Given the description of an element on the screen output the (x, y) to click on. 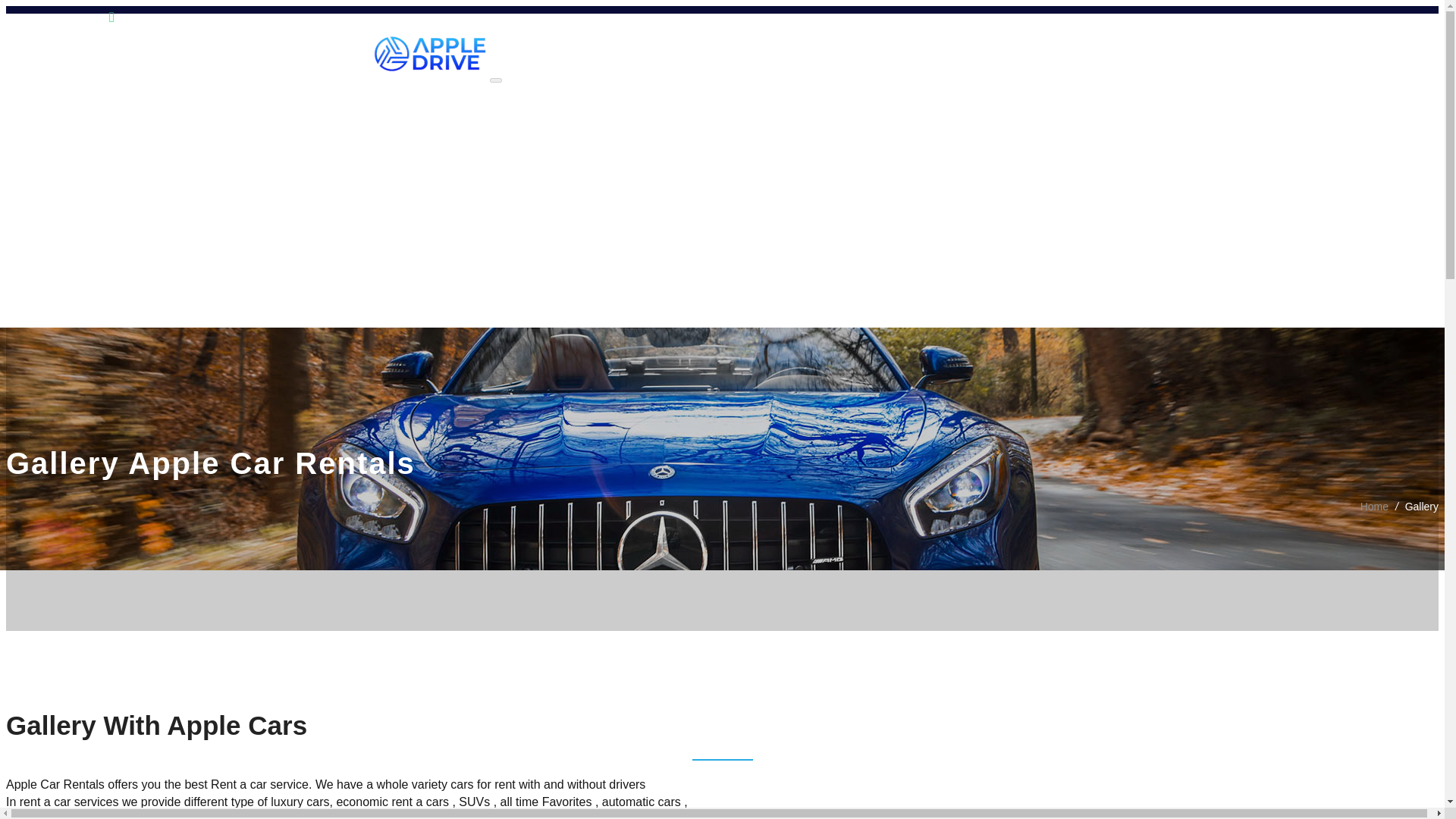
GALLERY (43, 297)
0471 255 3696 (1390, 17)
CONTACT US (54, 317)
TAXI (30, 238)
HOME (34, 99)
ABOUT US (46, 119)
Home (1374, 506)
WEDDING CARS (62, 278)
SERVICES (46, 138)
OFFERS (41, 258)
